Given the description of an element on the screen output the (x, y) to click on. 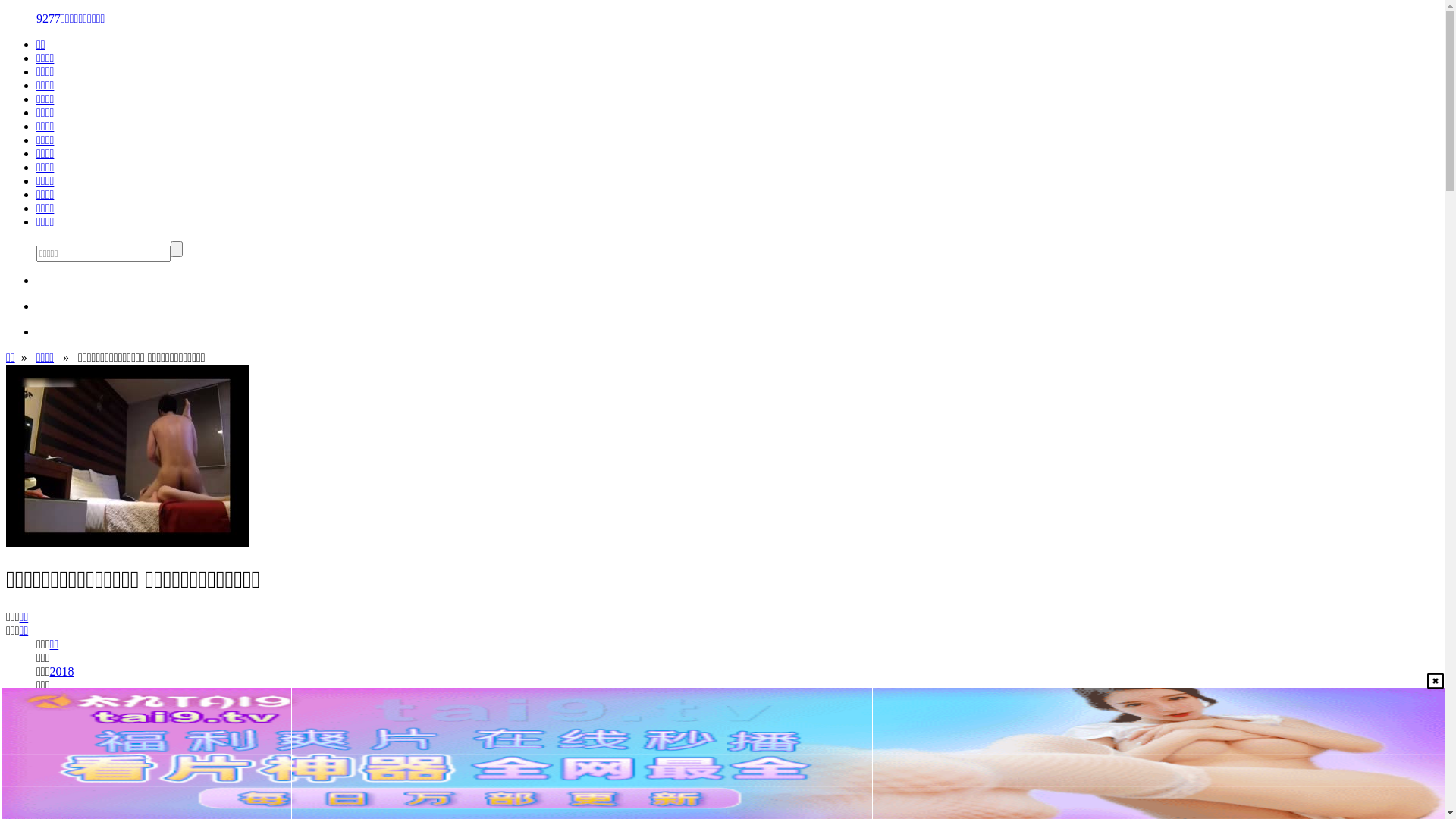
2018 Element type: text (62, 671)
